Given the description of an element on the screen output the (x, y) to click on. 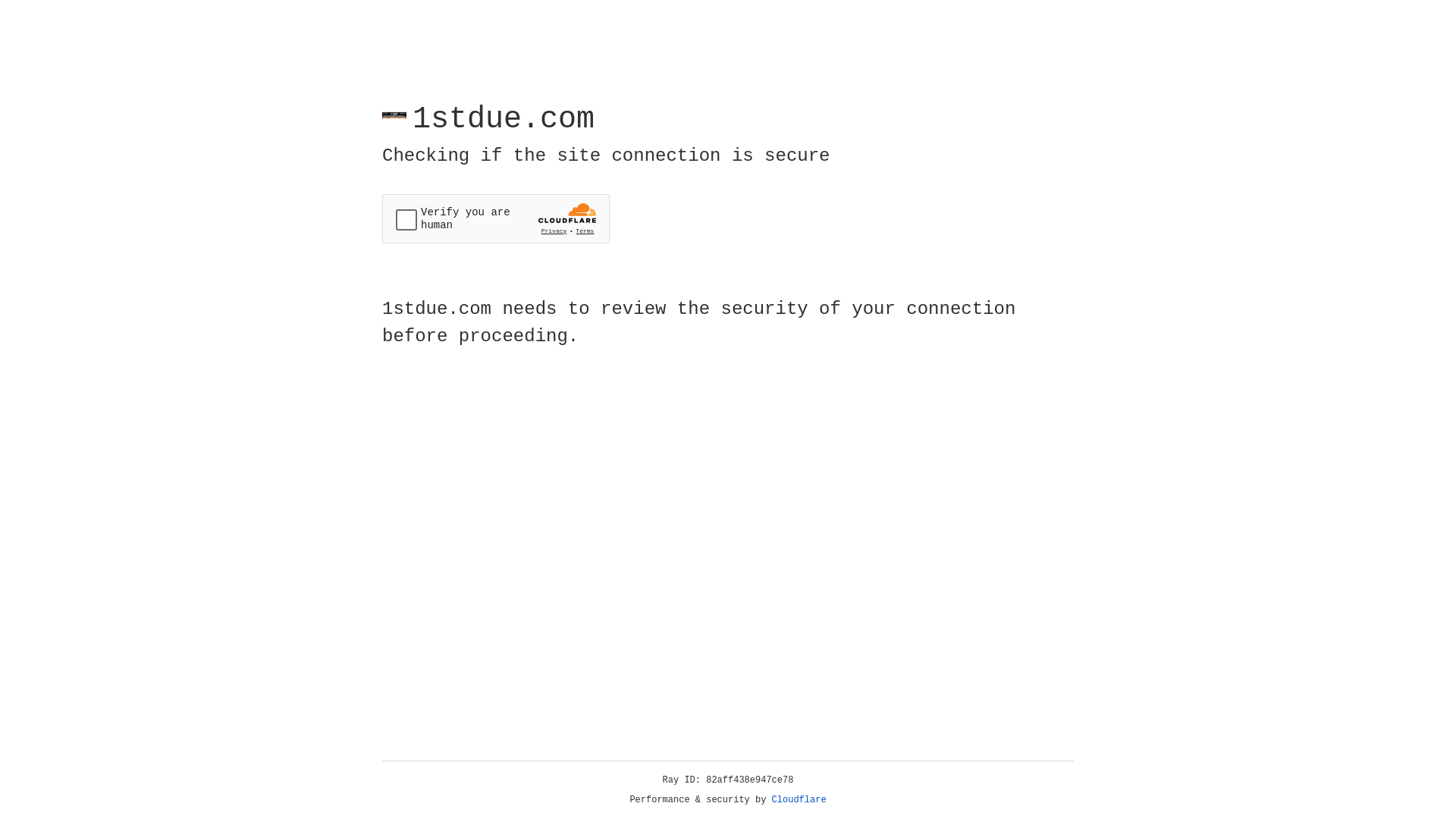
Widget containing a Cloudflare security challenge Element type: hover (495, 218)
Cloudflare Element type: text (798, 799)
